Given the description of an element on the screen output the (x, y) to click on. 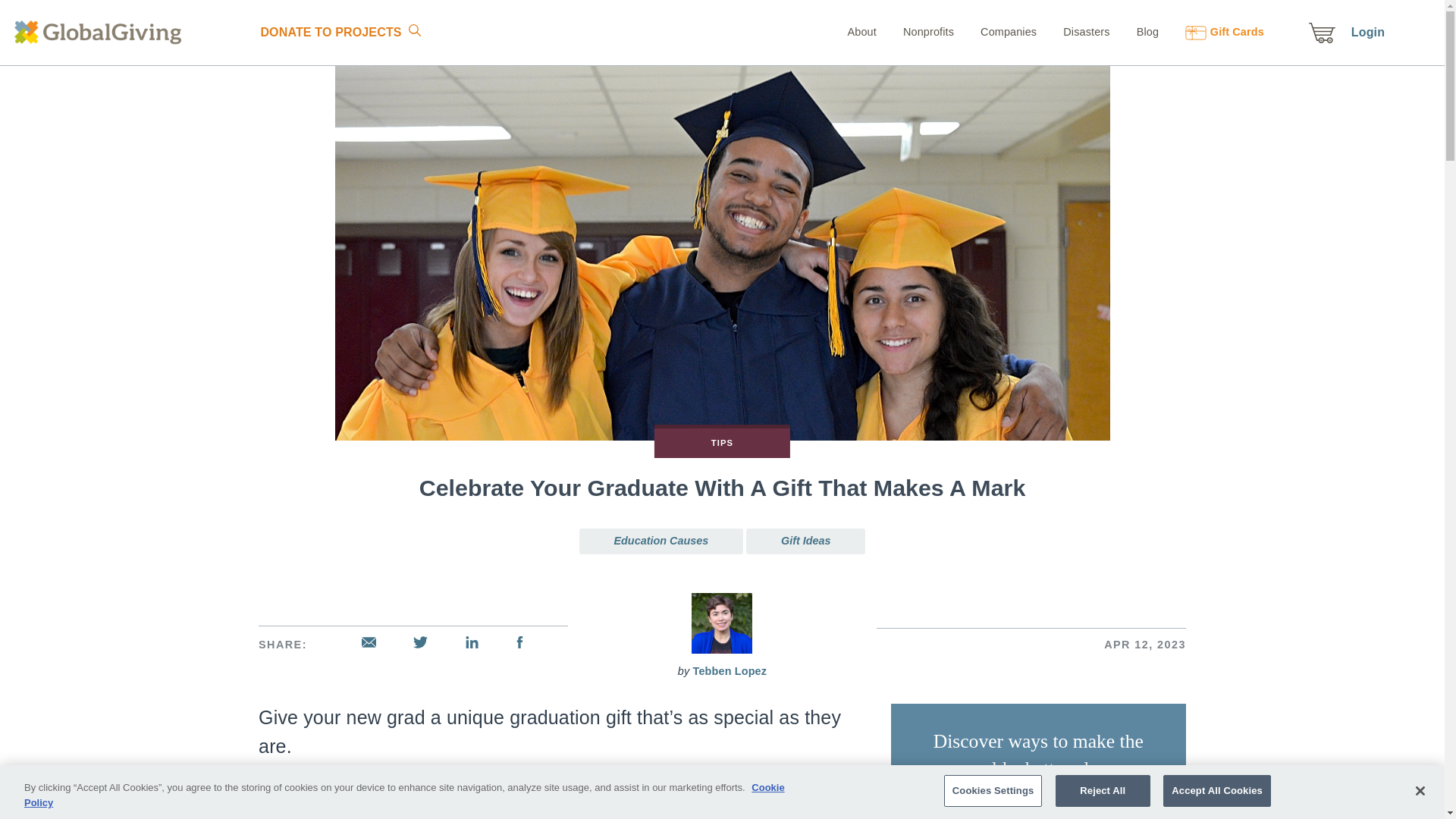
DONATE TO PROJECTS (330, 31)
Blog (1135, 31)
Posts by Tebben Lopez (730, 671)
Companies (996, 31)
Login (1367, 31)
Gift Cards (1212, 31)
About (861, 31)
Nonprofits (916, 31)
Disasters (1074, 31)
